Given the description of an element on the screen output the (x, y) to click on. 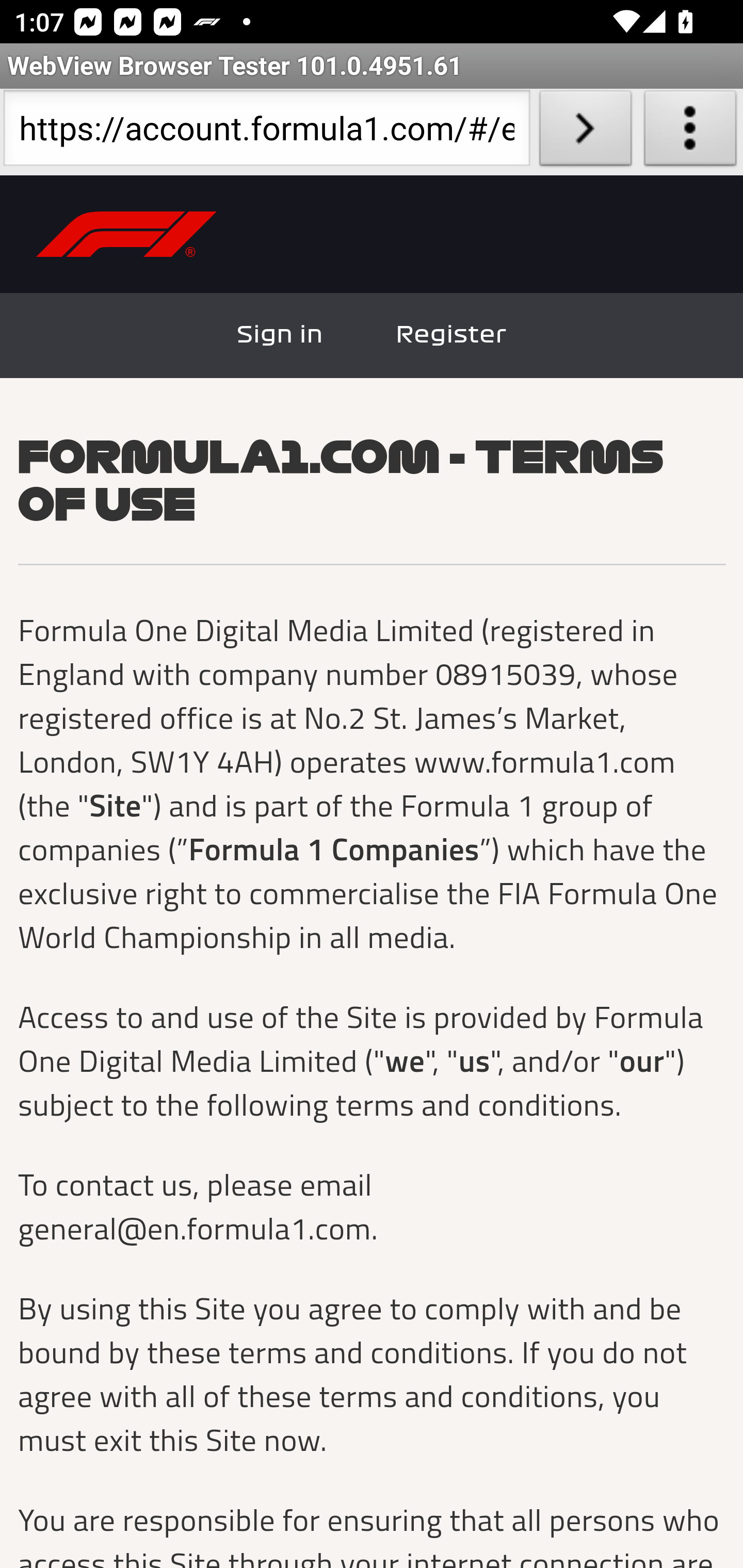
https://account.formula1.com/#/en/terms-of-use (266, 132)
Load URL (585, 132)
About WebView (690, 132)
Formula1 (127, 234)
Sign in (280, 335)
Register (451, 335)
